Given the description of an element on the screen output the (x, y) to click on. 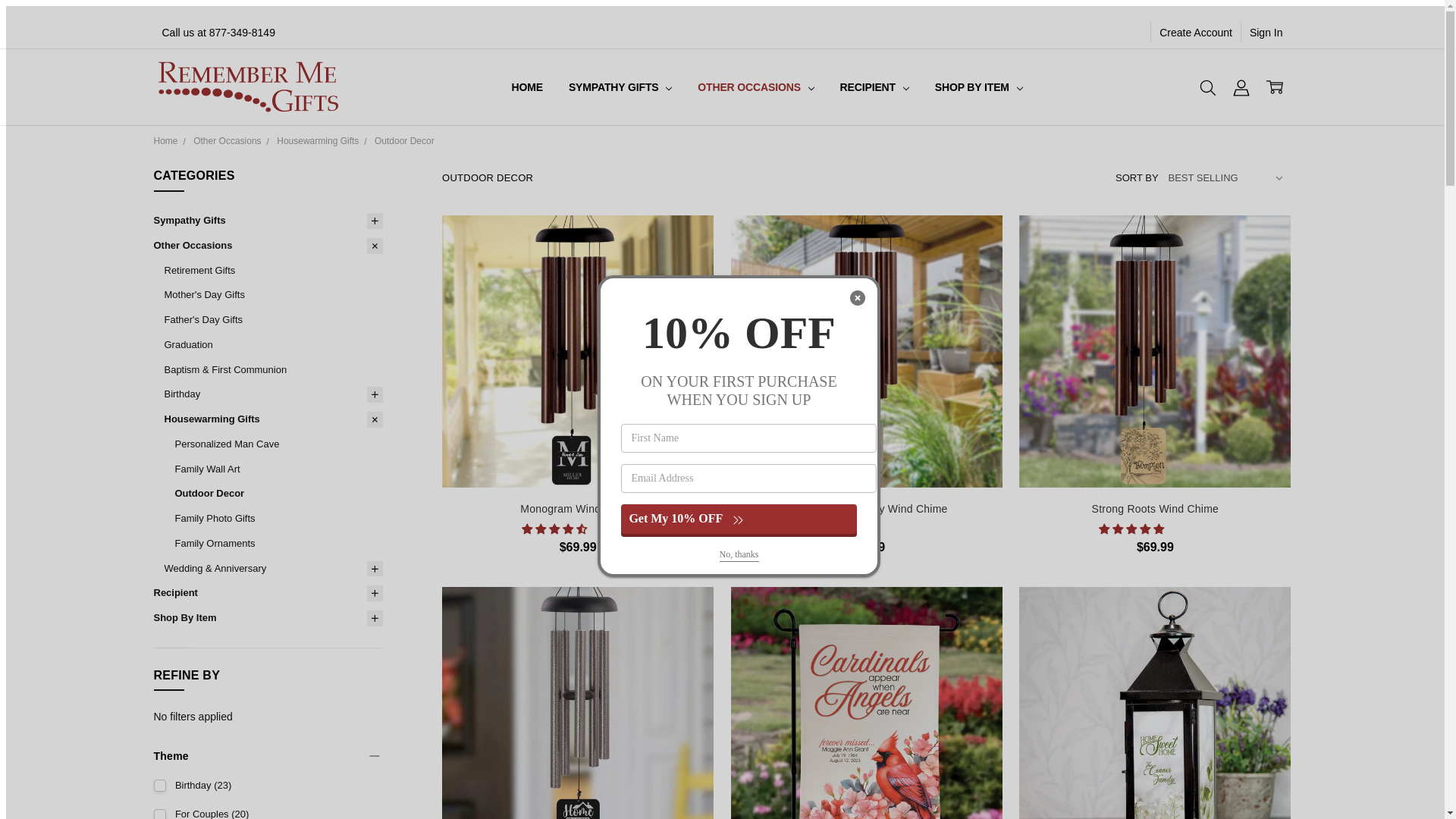
Personalized monogram wind chimes (577, 350)
Sign In (1266, 32)
OTHER OCCASIONS (755, 87)
SYMPATHY GIFTS (620, 87)
Remember Me Gifts (247, 87)
Home Sweet Home Personalized lantern has family last name (1154, 703)
Personalized wind chimes for wedding gift (866, 350)
Create Account (1195, 32)
Call us at 877-349-8149 (217, 32)
Strong Roots Personalized Family Wind (1154, 350)
